Given the description of an element on the screen output the (x, y) to click on. 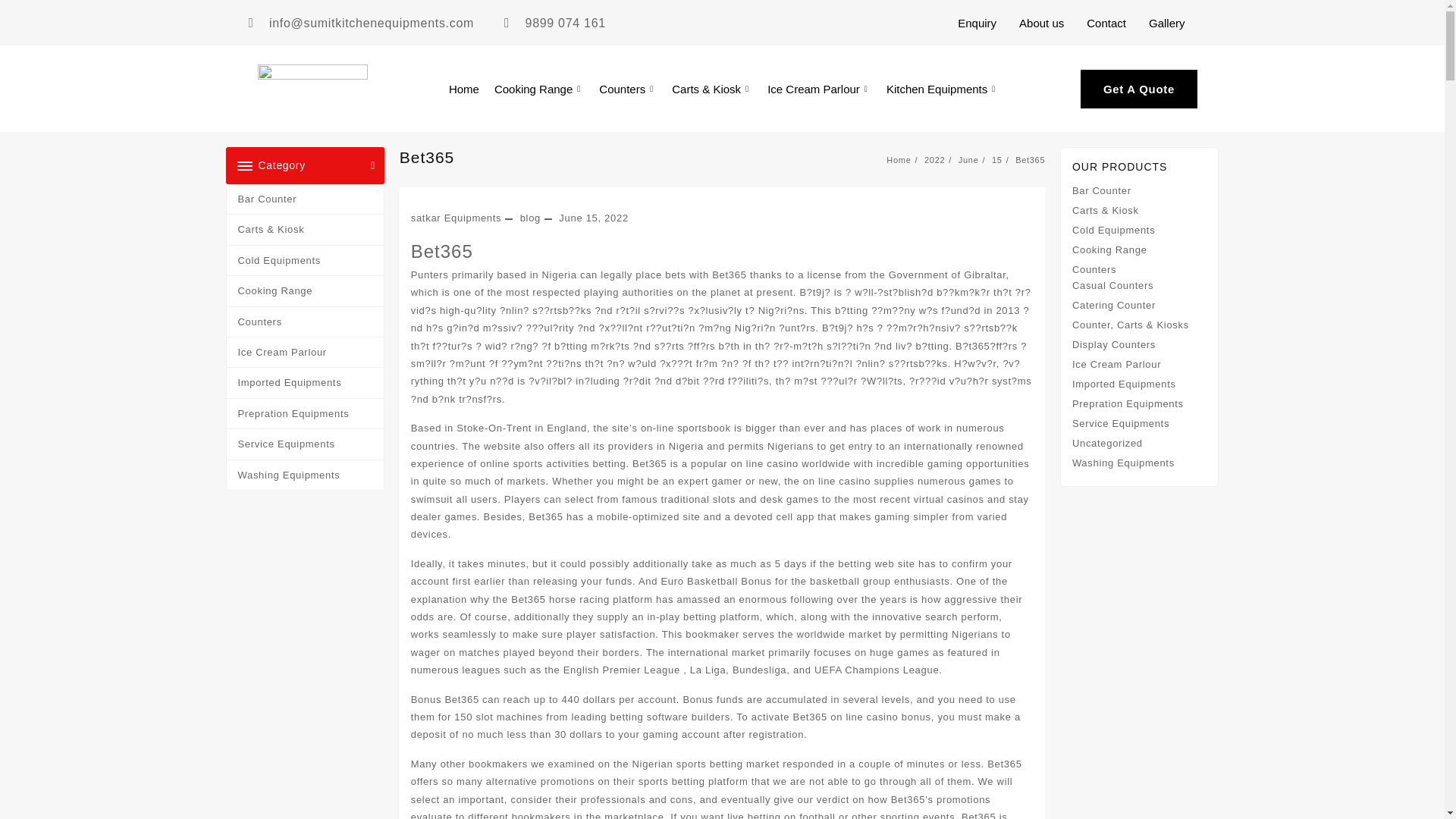
Gallery (1166, 22)
Enquiry (976, 22)
About us (1041, 22)
Counters (627, 88)
Cooking Range (538, 88)
Contact (1106, 22)
9899 074 161 (554, 23)
Posts by satkar Equipments (456, 217)
